Given the description of an element on the screen output the (x, y) to click on. 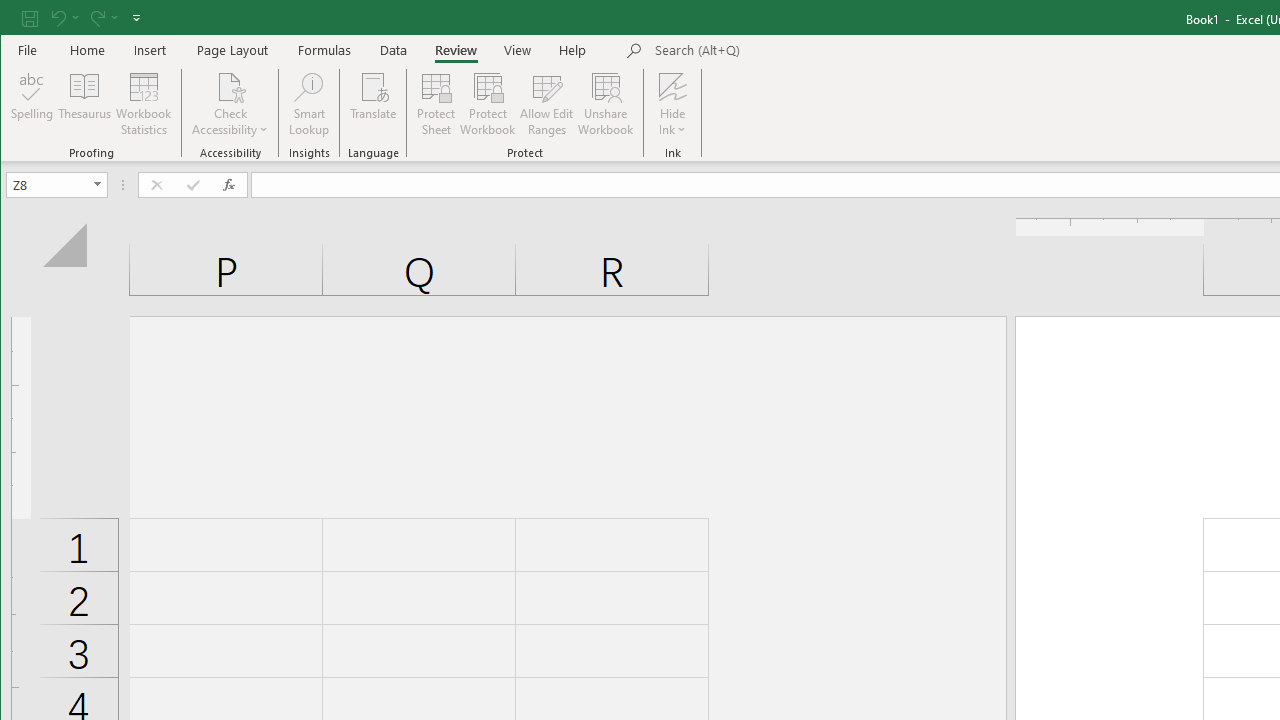
Translate (373, 104)
Protect Sheet... (436, 104)
Spelling... (32, 104)
Allow Edit Ranges (547, 104)
